Given the description of an element on the screen output the (x, y) to click on. 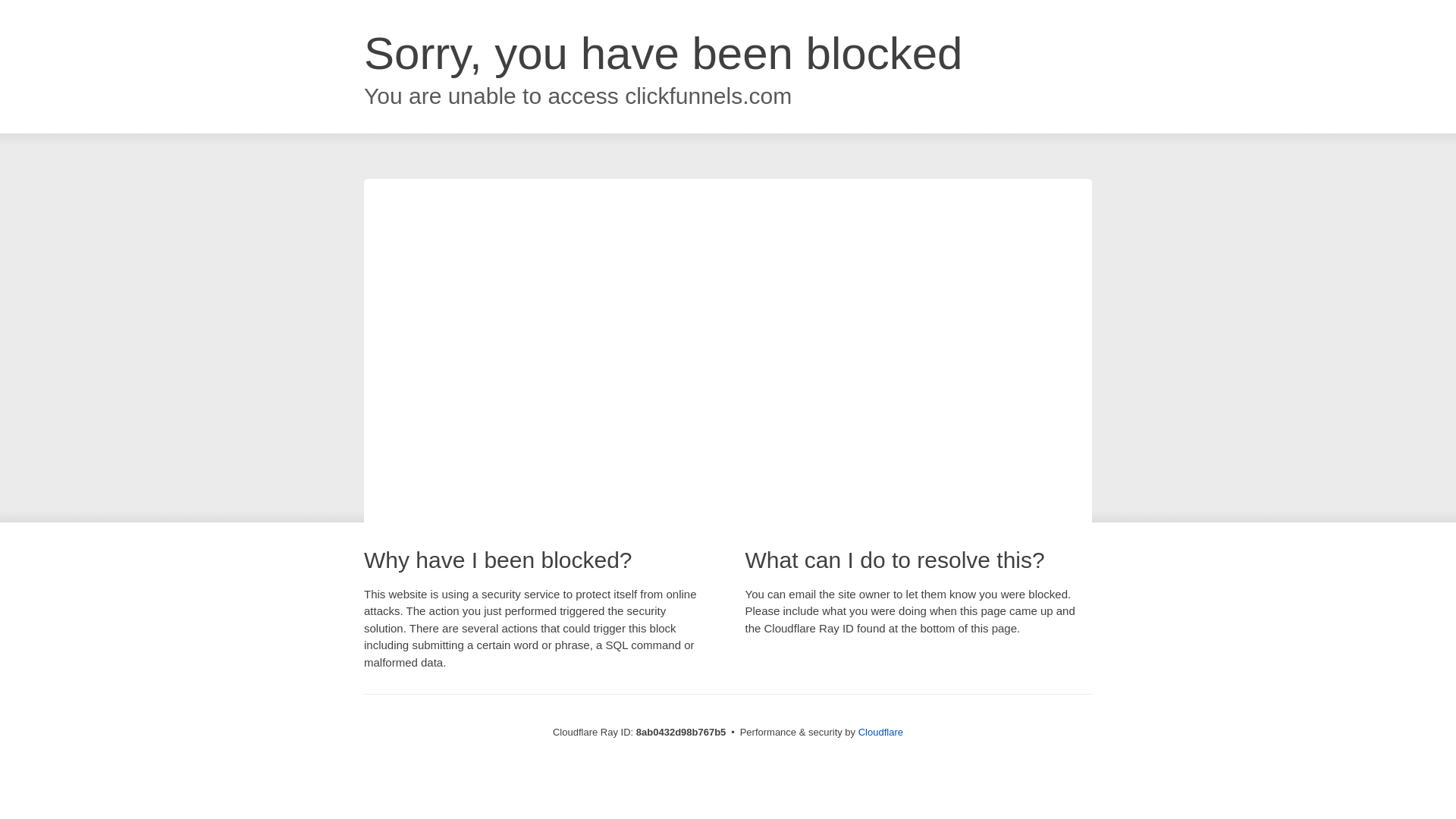
Cloudflare (880, 731)
